Given the description of an element on the screen output the (x, y) to click on. 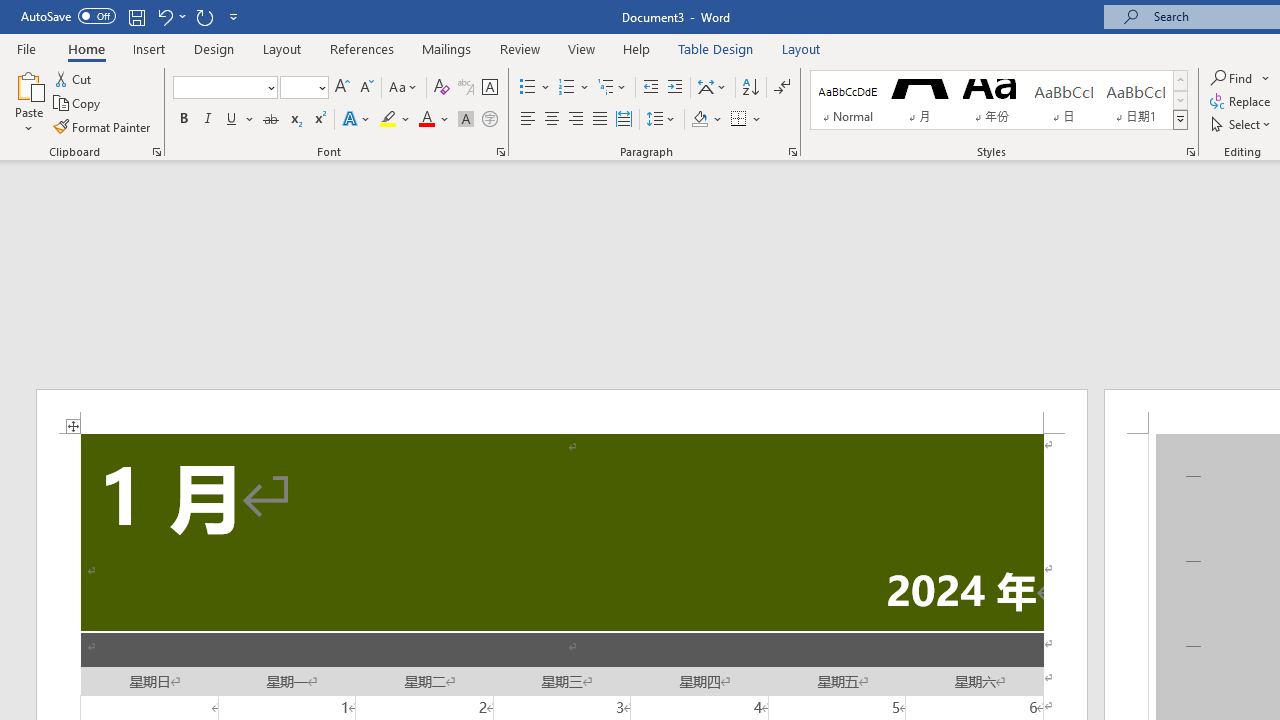
Character Border (489, 87)
Phonetic Guide... (465, 87)
Multilevel List (613, 87)
Repeat Doc Close (204, 15)
Replace... (1242, 101)
